Given the description of an element on the screen output the (x, y) to click on. 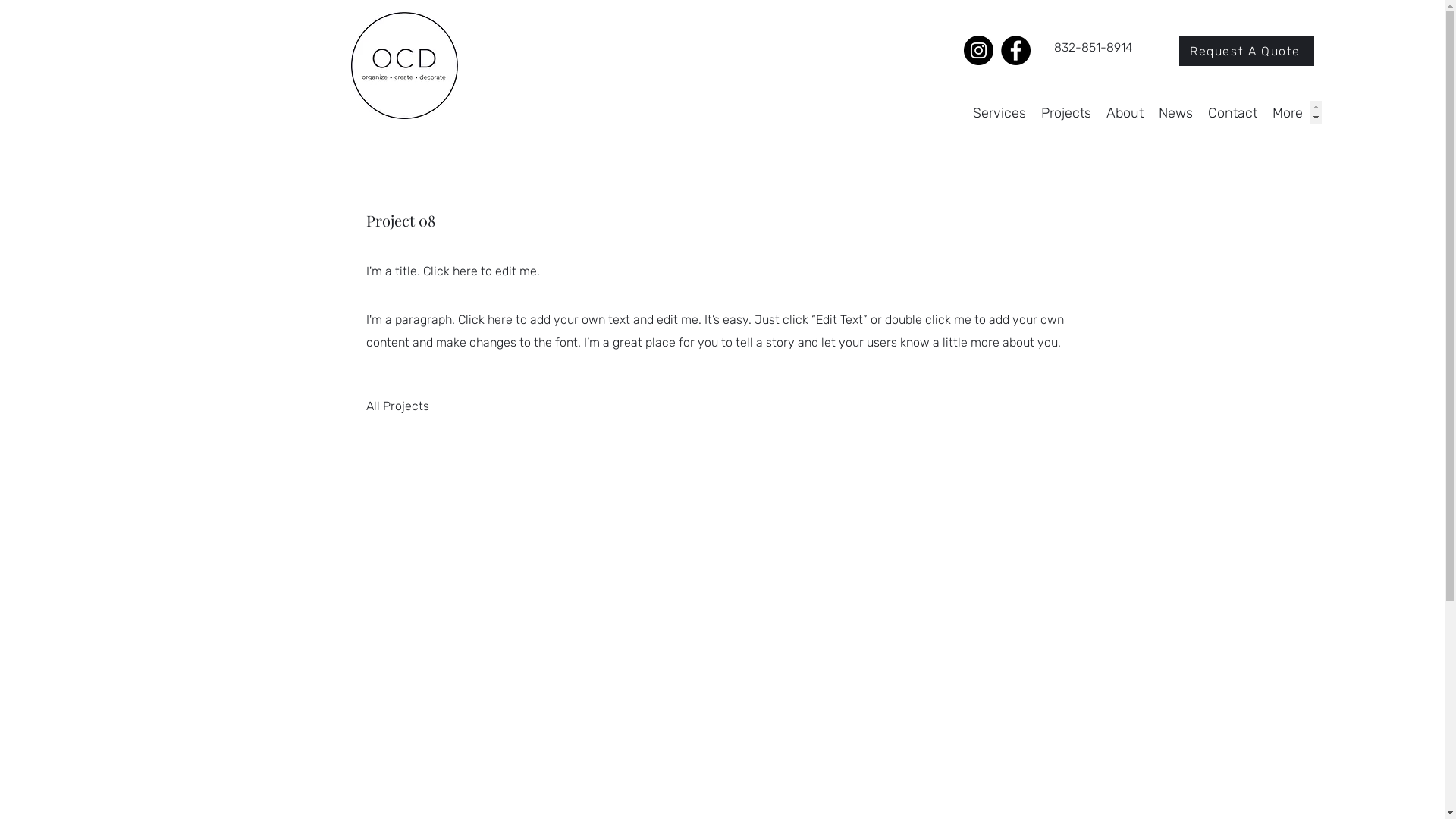
All Projects Element type: text (396, 406)
Services Element type: text (999, 111)
Request A Quote Element type: text (1246, 50)
About Element type: text (1124, 111)
Projects Element type: text (1065, 111)
News Element type: text (1175, 111)
Contact Element type: text (1232, 111)
